Given the description of an element on the screen output the (x, y) to click on. 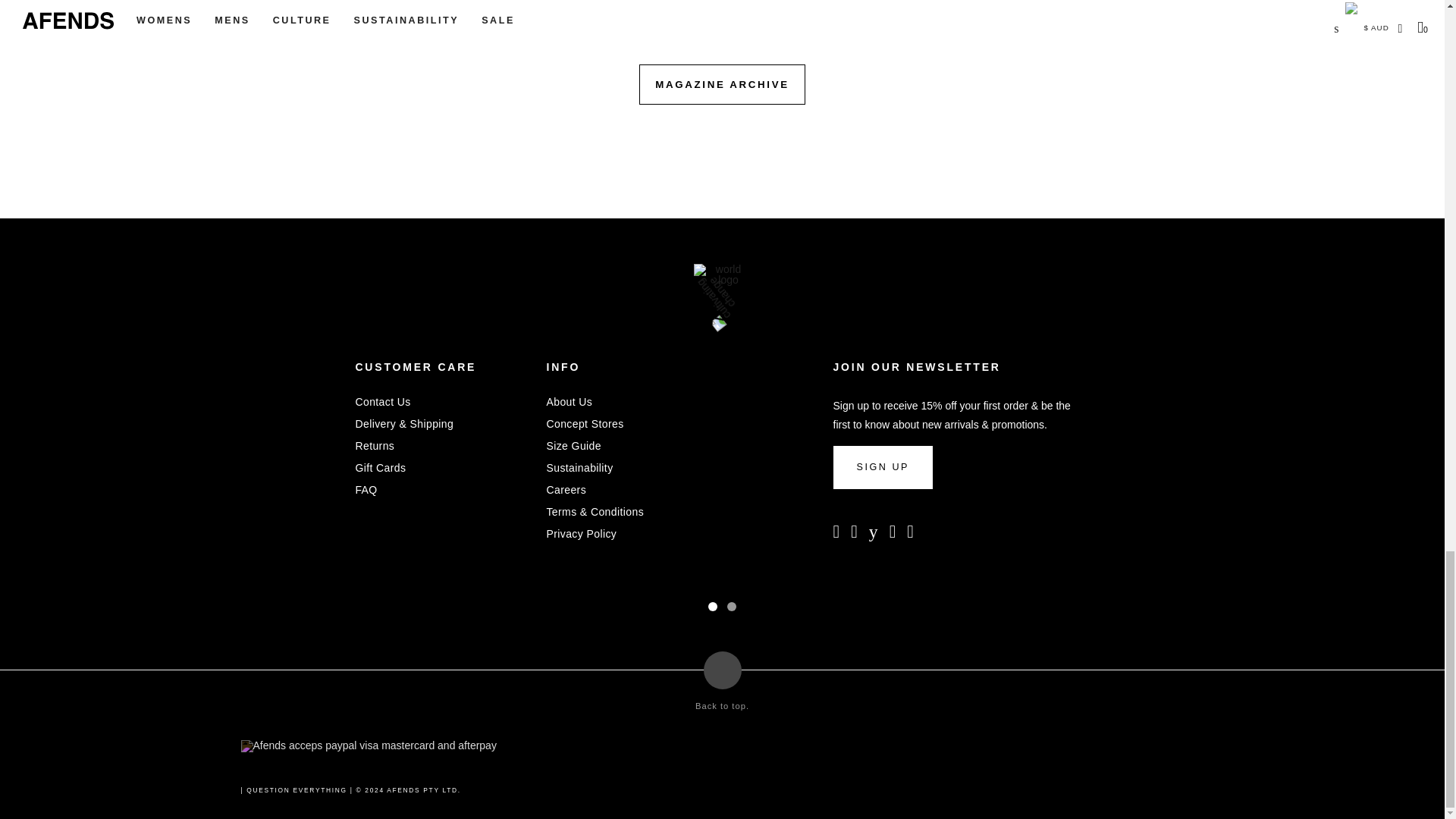
Sustainability (579, 467)
Size Guide (572, 445)
About Us (569, 401)
Concept Stores (584, 423)
